Given the description of an element on the screen output the (x, y) to click on. 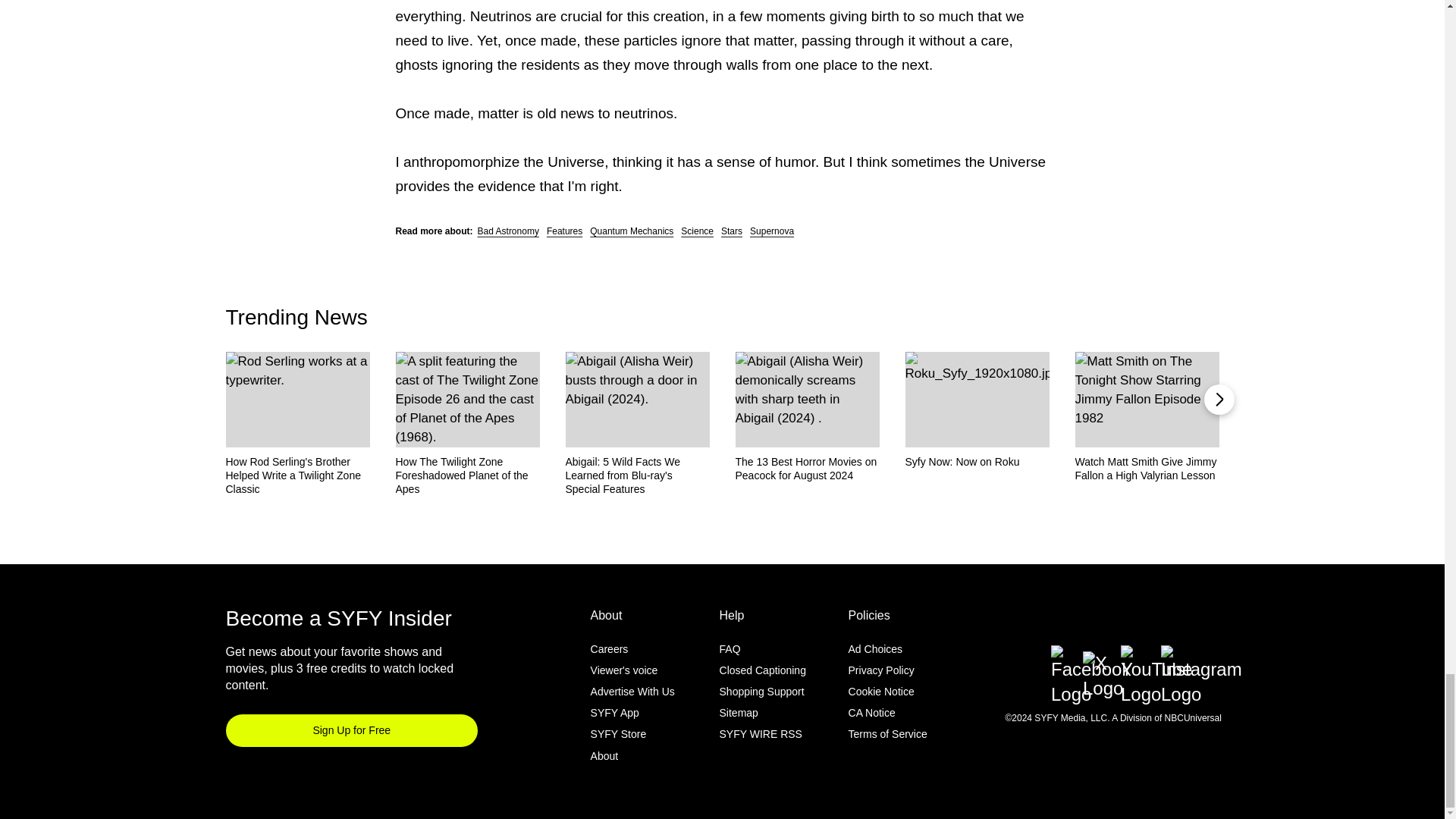
Science (697, 231)
Quantum Mechanics (630, 231)
Advertise With Us (633, 692)
Bad Astronomy (507, 231)
Features (564, 231)
